Given the description of an element on the screen output the (x, y) to click on. 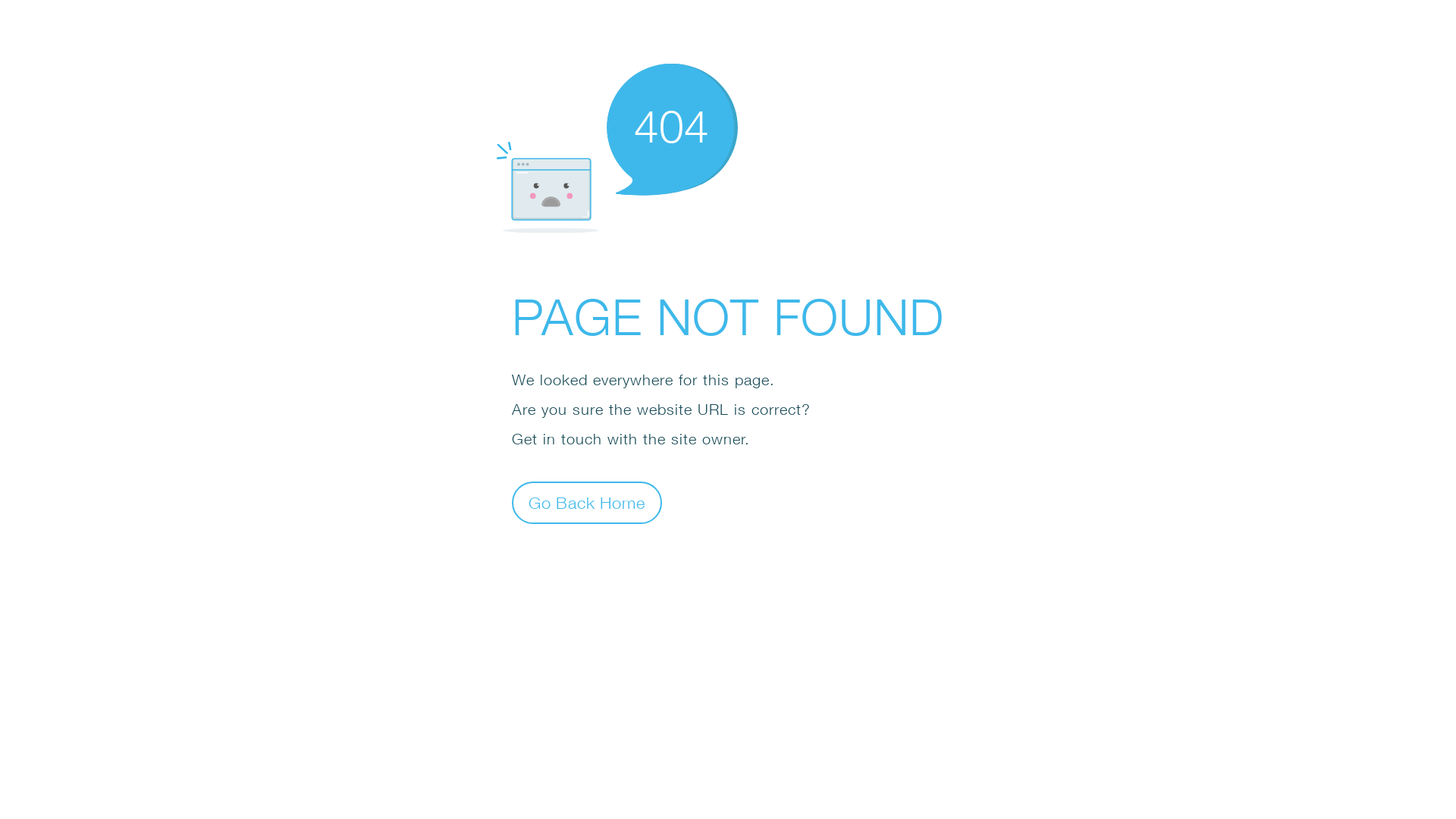
Go Back Home Element type: text (586, 502)
